Given the description of an element on the screen output the (x, y) to click on. 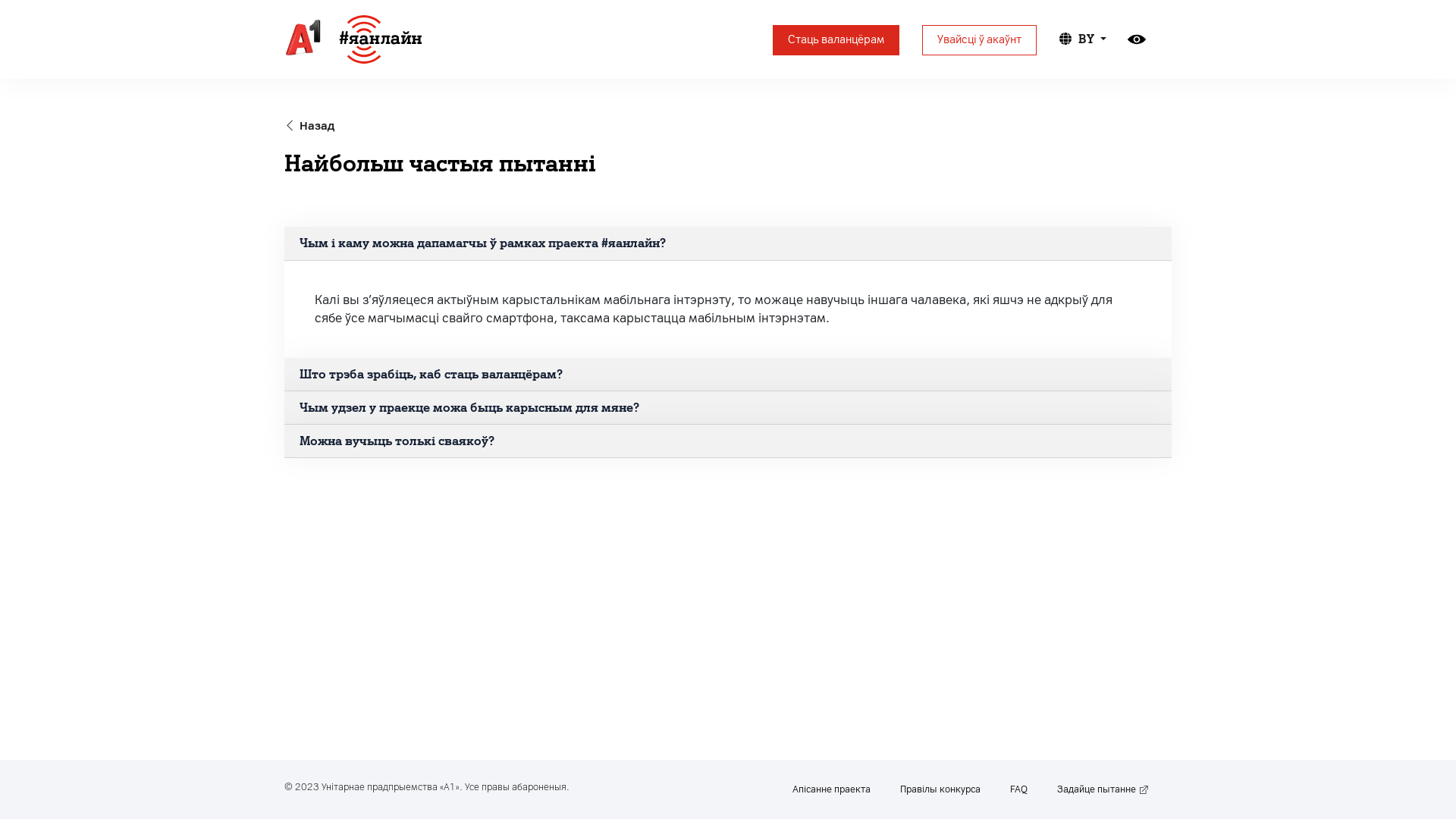
FAQ Element type: text (1018, 789)
BY Element type: text (1082, 38)
